Given the description of an element on the screen output the (x, y) to click on. 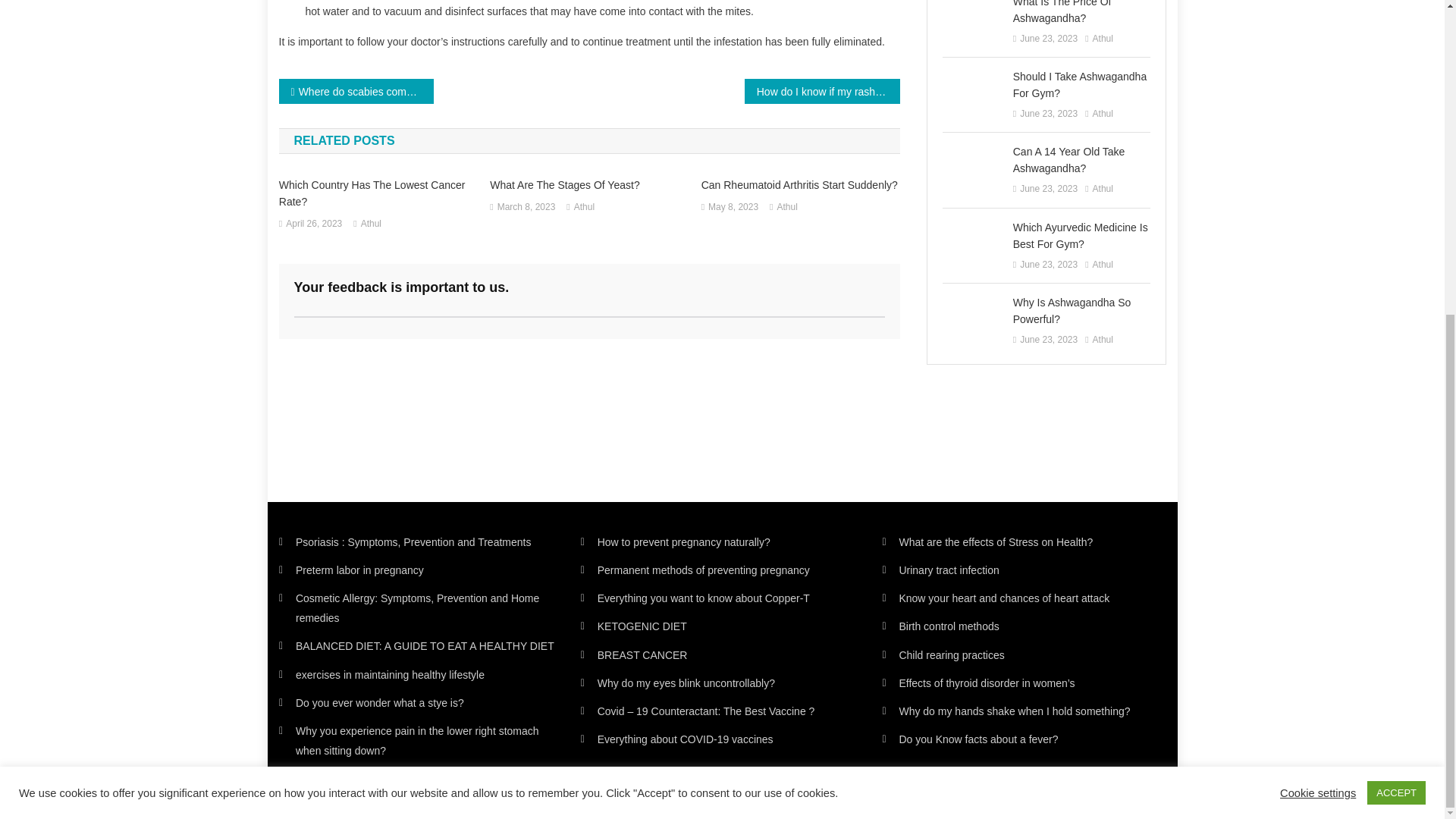
Athul (371, 224)
Can Rheumatoid Arthritis Start Suddenly? (800, 184)
Athul (786, 207)
Which Country Has The Lowest Cancer Rate? (378, 192)
April 26, 2023 (313, 224)
Athul (583, 207)
What Is The Price Of Ashwagandha? (1081, 13)
Where do scabies come from? (356, 91)
March 8, 2023 (526, 207)
How do I know if my rash is scabies? (821, 91)
What Are The Stages Of Yeast? (588, 184)
May 8, 2023 (732, 207)
